Given the description of an element on the screen output the (x, y) to click on. 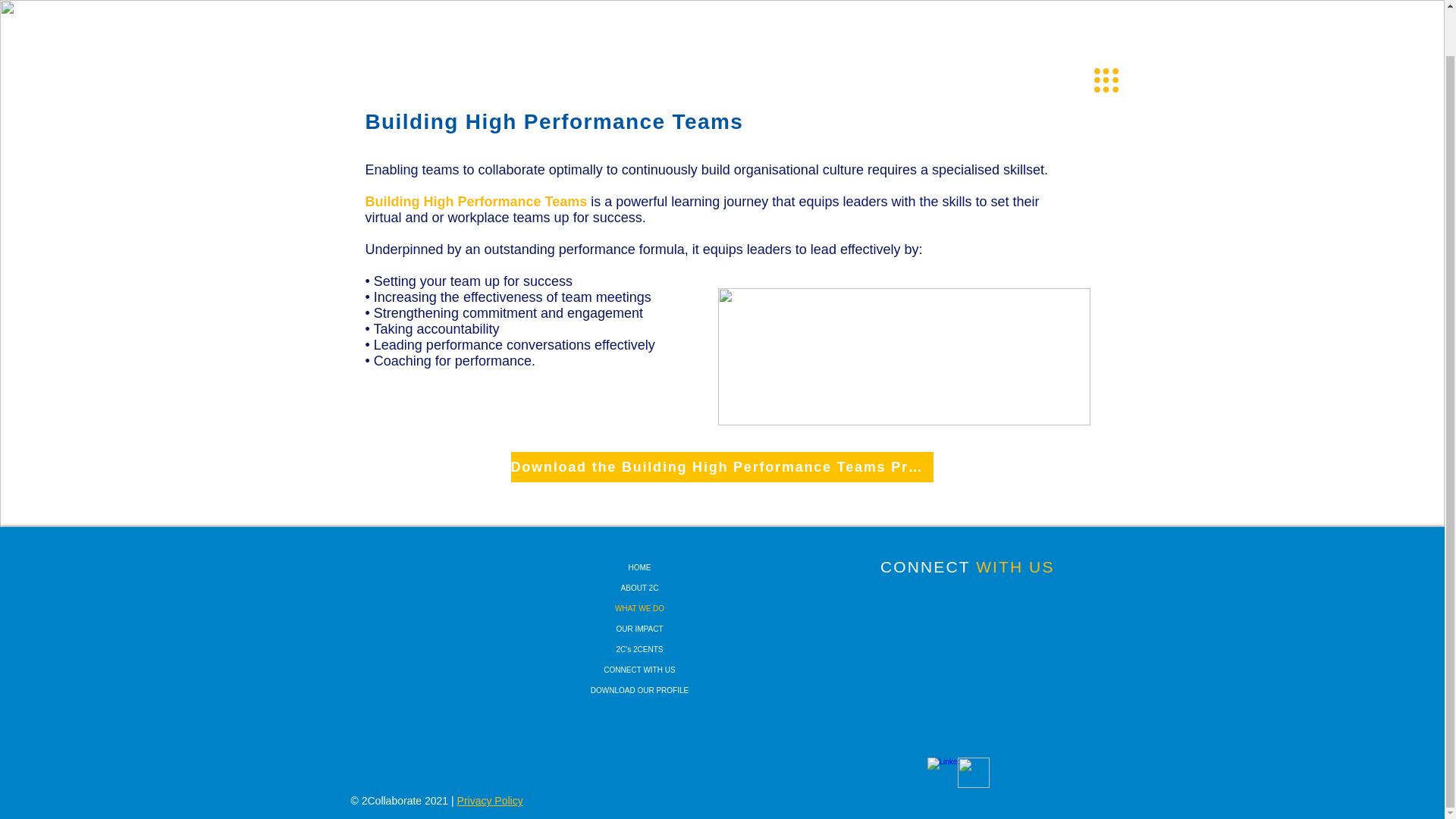
WHAT WE DO (638, 608)
CONNECT WITH US (638, 670)
Download the Building High Performance Teams Profile (722, 467)
OUR IMPACT (638, 629)
2C's 2CENTS (638, 649)
DOWNLOAD OUR PROFILE (638, 690)
Building High Performance Teams icons ne (903, 356)
CONNECT WITH US (967, 566)
HOME (638, 567)
ABOUT 2C (638, 588)
Privacy Policy (489, 800)
Facebook icon.png (972, 772)
2C White logo long no strap.png (1092, 18)
